Given the description of an element on the screen output the (x, y) to click on. 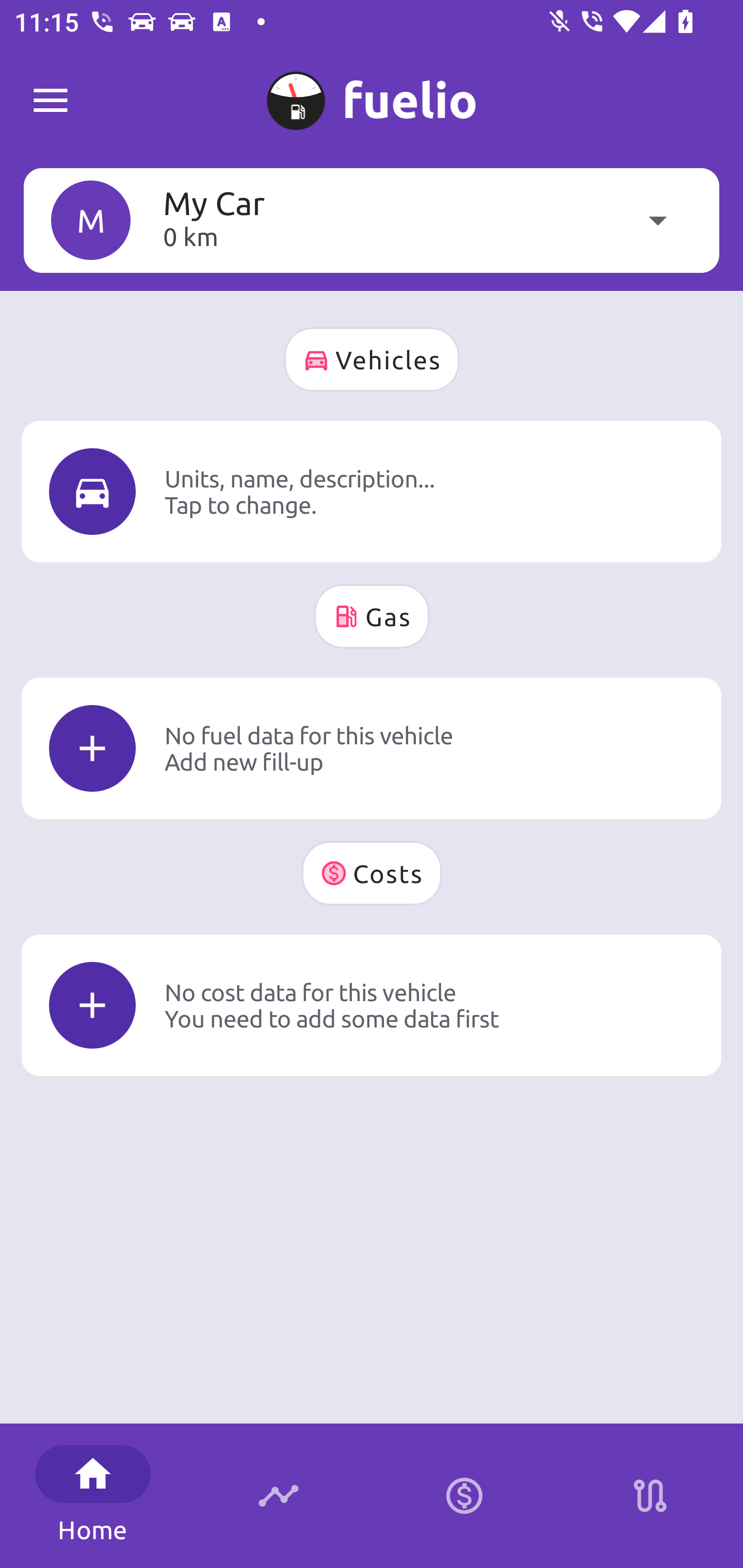
Fuelio (50, 101)
M My Car 0 km (371, 219)
Vehicles (371, 359)
Icon Units, name, description...
Tap to change. (371, 491)
Icon (92, 491)
Gas (371, 616)
Icon No fuel data for this vehicle
Add new fill-up (371, 747)
Icon (92, 748)
Costs (371, 873)
Icon (92, 1004)
Timeline (278, 1495)
Calculator (464, 1495)
Stations on route (650, 1495)
